Given the description of an element on the screen output the (x, y) to click on. 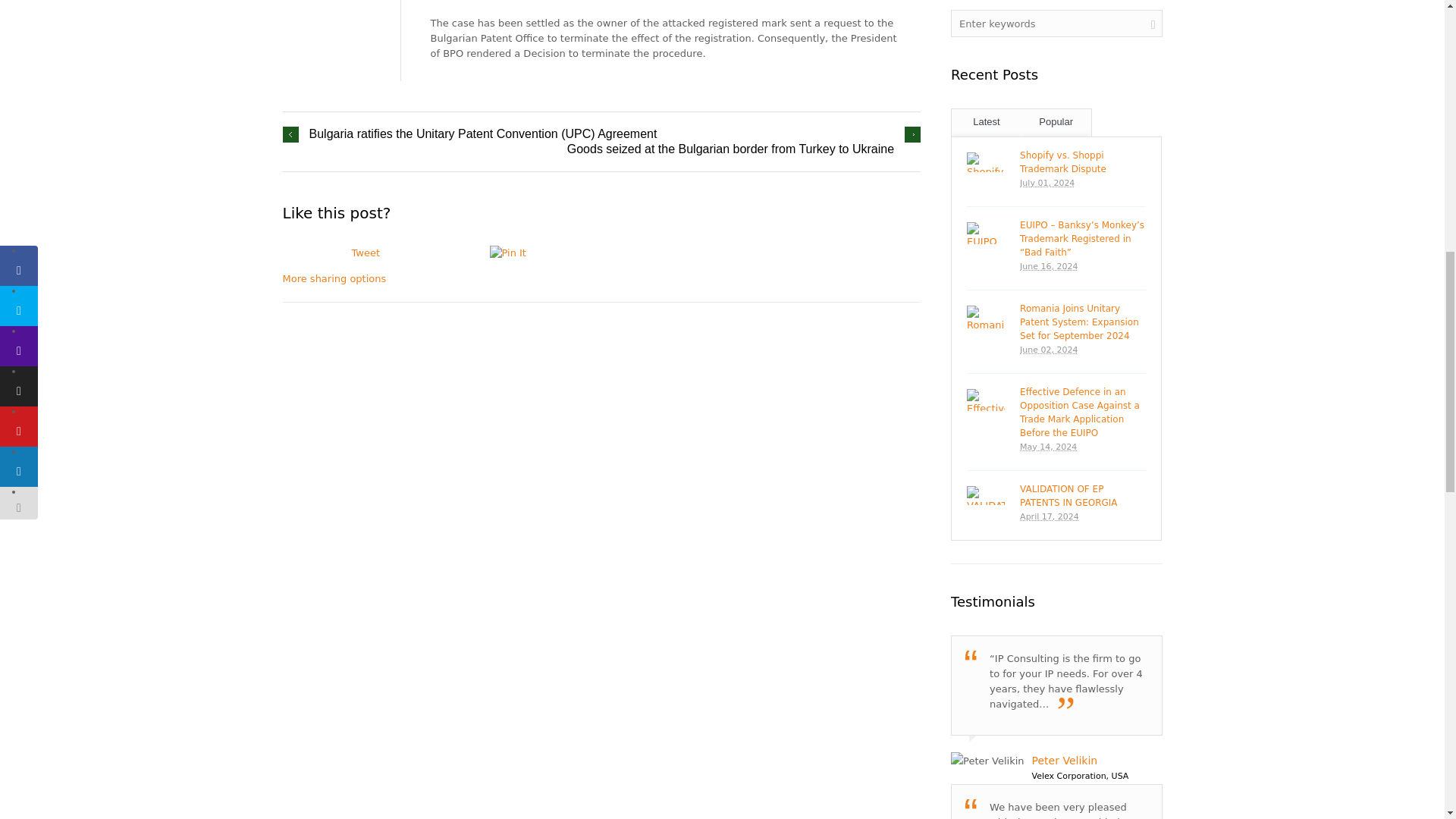
Shopify vs. Shoppi Trademark Dispute (985, 161)
16-06-2024 (1082, 266)
Pin It (524, 253)
02-06-2024 (1082, 350)
01-07-2024 (1082, 183)
Shopify vs. Shoppi Trademark Dispute (1082, 162)
